Given the description of an element on the screen output the (x, y) to click on. 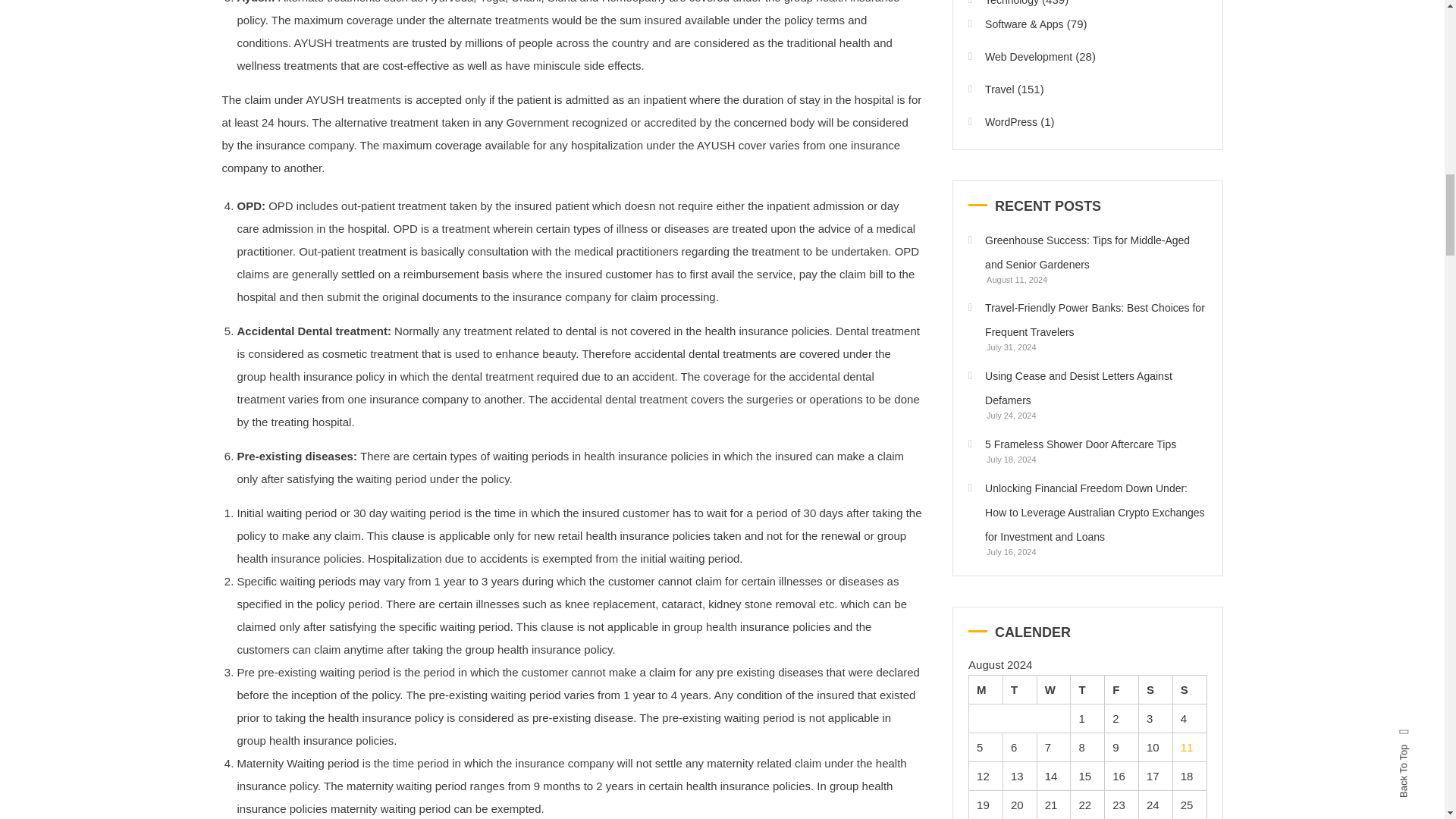
Tuesday (1019, 688)
Friday (1121, 688)
Sunday (1189, 688)
Thursday (1087, 688)
Wednesday (1053, 688)
Monday (986, 688)
Saturday (1155, 688)
